Given the description of an element on the screen output the (x, y) to click on. 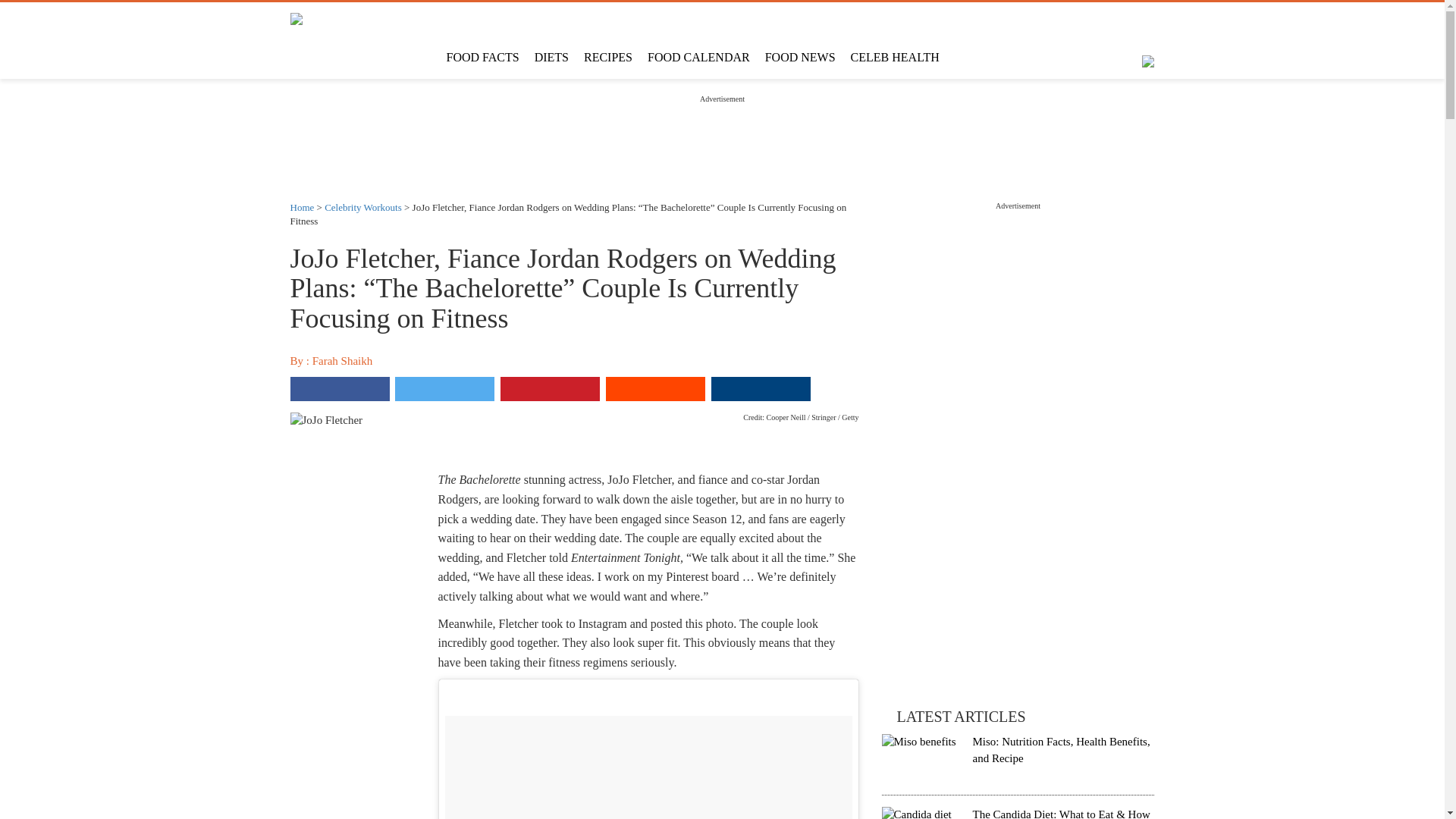
Miso: Nutrition Facts, Health Benefits, and Recipe (1061, 749)
FOOD NEWS (800, 57)
Home (301, 206)
FOOD FACTS (481, 57)
RECIPES (608, 57)
Celebrity Workouts (362, 206)
FOOD CALENDAR (698, 57)
CELEB HEALTH (895, 57)
Posts by Farah Shaikh (342, 360)
DIETS (551, 57)
